Given the description of an element on the screen output the (x, y) to click on. 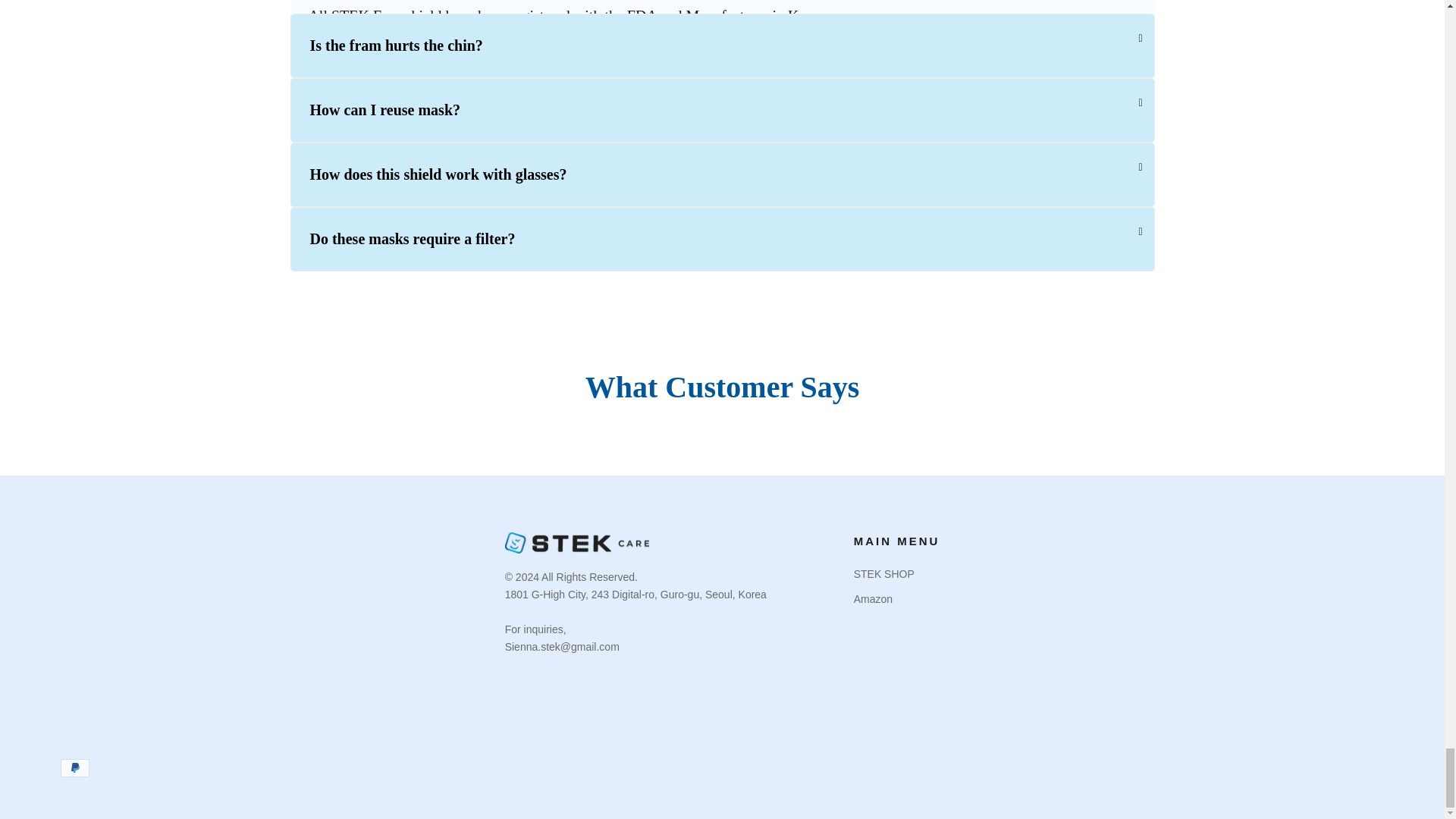
PayPal (74, 768)
Is the fram hurts the chin? (721, 45)
